Given the description of an element on the screen output the (x, y) to click on. 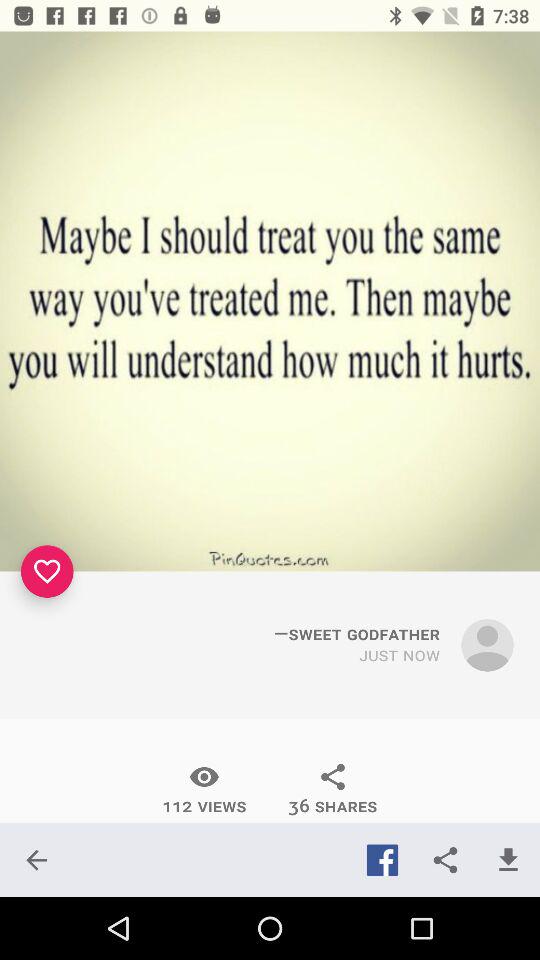
turn off icon next to 112 views icon (332, 789)
